Given the description of an element on the screen output the (x, y) to click on. 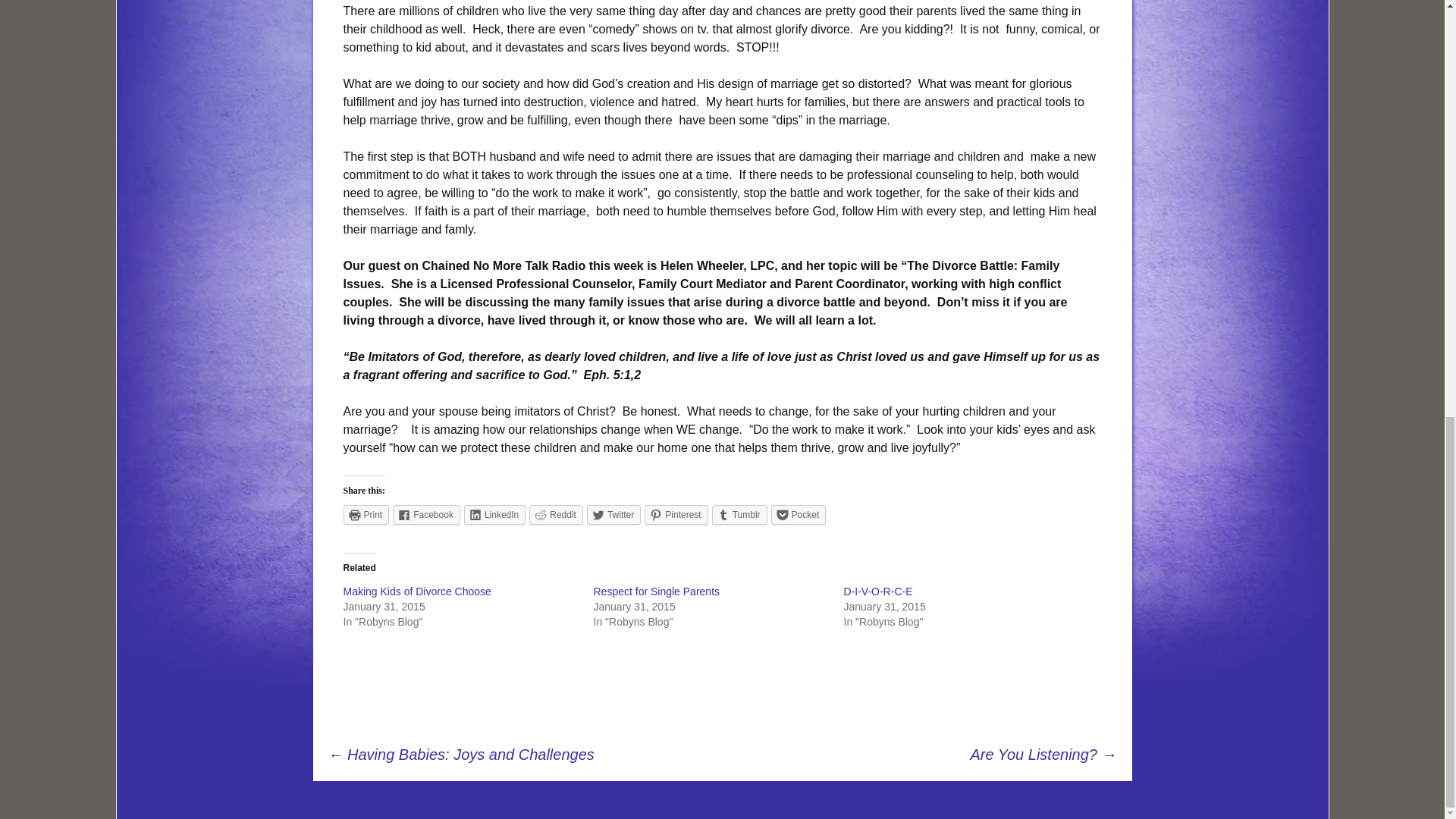
Tumblr (739, 514)
Making Kids of Divorce Choose (416, 591)
Click to share on Facebook (426, 514)
Twitter (613, 514)
Pinterest (676, 514)
Click to share on Twitter (613, 514)
D-I-V-O-R-C-E (877, 591)
Click to print (365, 514)
Click to share on LinkedIn (494, 514)
Click to share on Pinterest (676, 514)
Print (365, 514)
Click to share on Reddit (556, 514)
Facebook (426, 514)
LinkedIn (494, 514)
Reddit (556, 514)
